Given the description of an element on the screen output the (x, y) to click on. 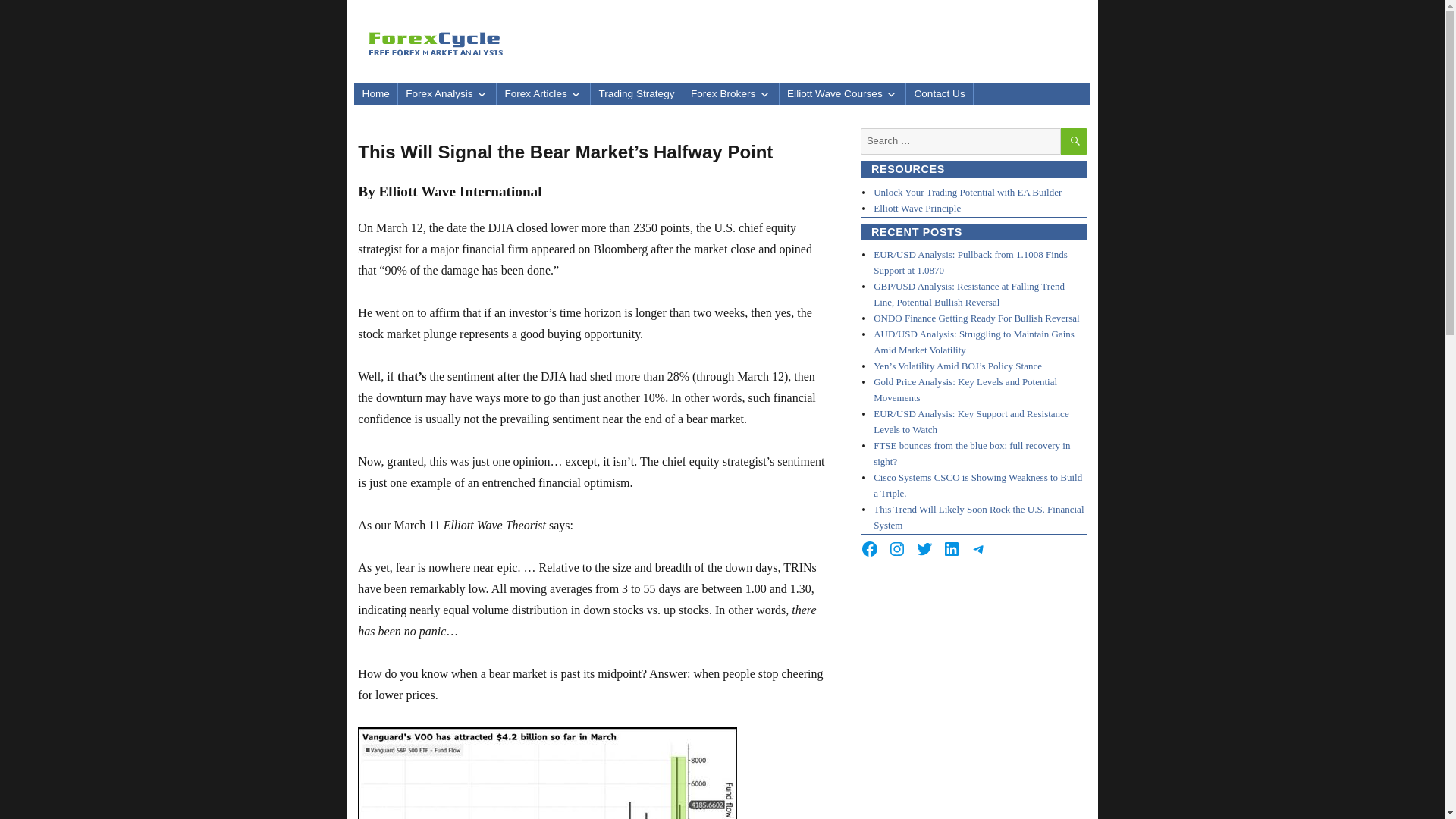
Home (375, 93)
Forex Articles (542, 93)
Contact Us (938, 93)
Forex Analysis (446, 93)
Trading Strategy (636, 93)
Elliott Wave Courses (841, 93)
Forex Brokers (730, 93)
